Given the description of an element on the screen output the (x, y) to click on. 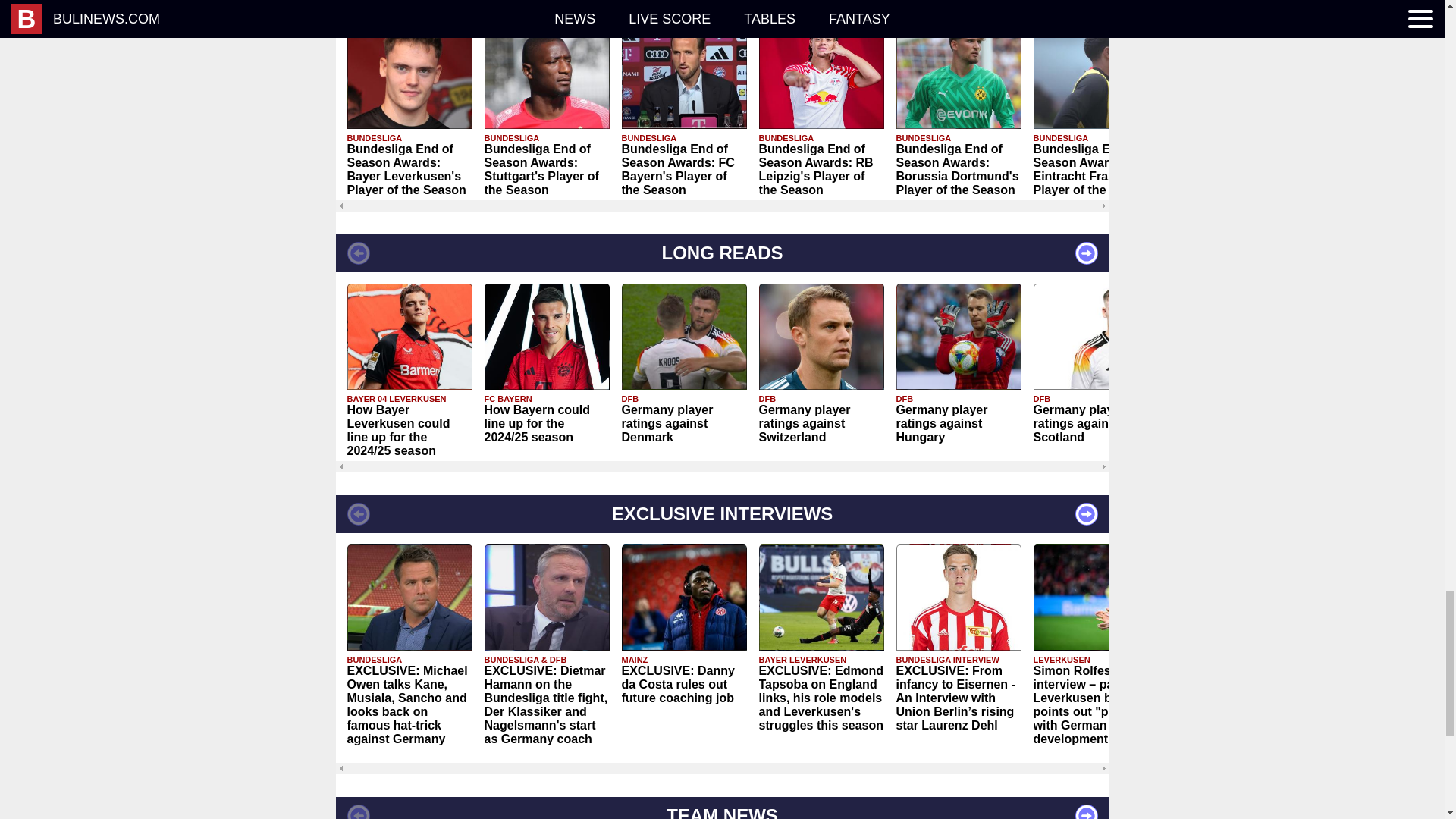
LONG READS (721, 252)
EXCLUSIVE INTERVIEWS (721, 514)
TEAM NEWS (721, 807)
BUNDESLIGA END OF SEASON AWARDS (721, 5)
